Given the description of an element on the screen output the (x, y) to click on. 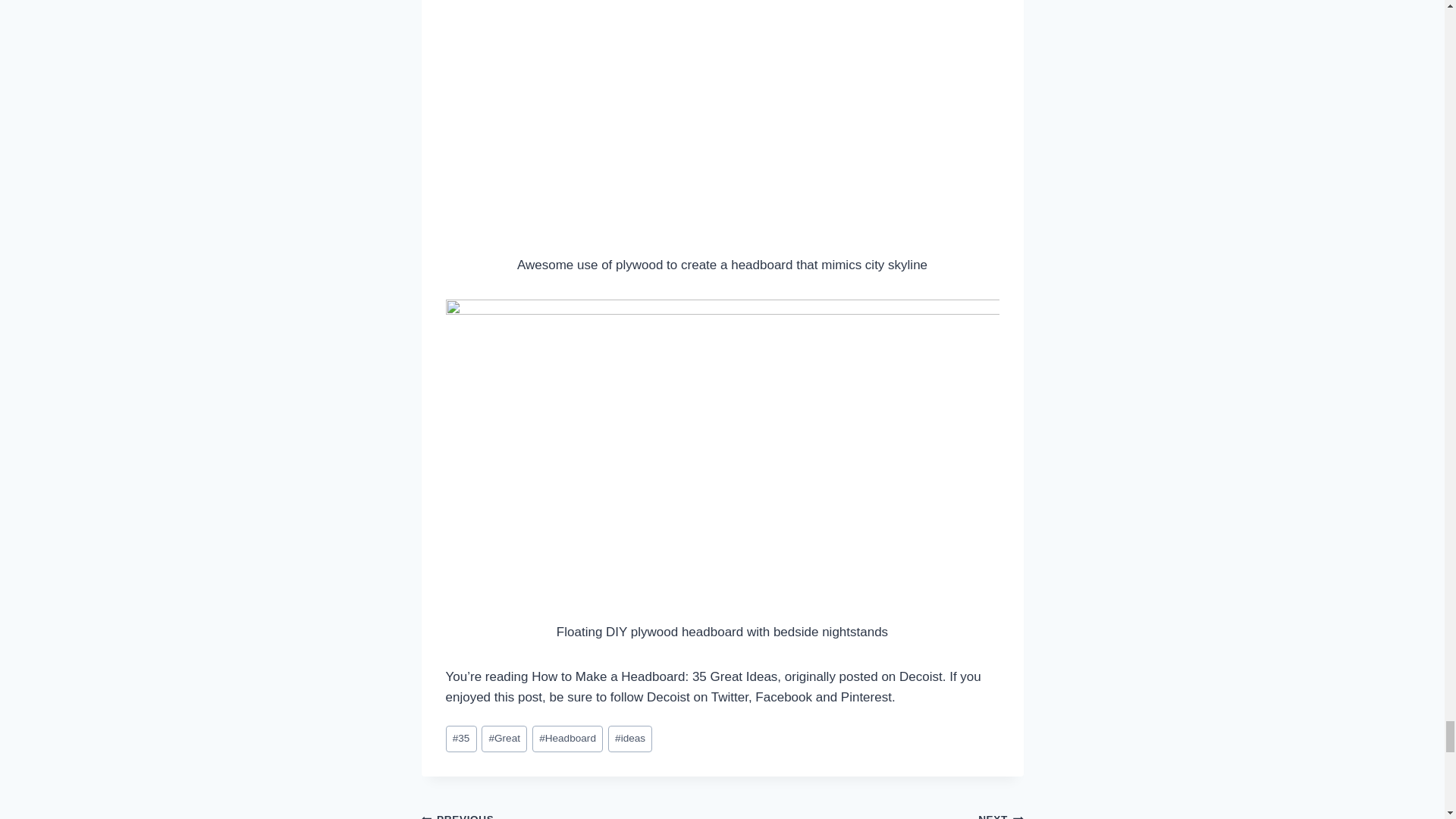
Great (504, 738)
Headboard (567, 738)
ideas (630, 738)
35 (461, 738)
